Given the description of an element on the screen output the (x, y) to click on. 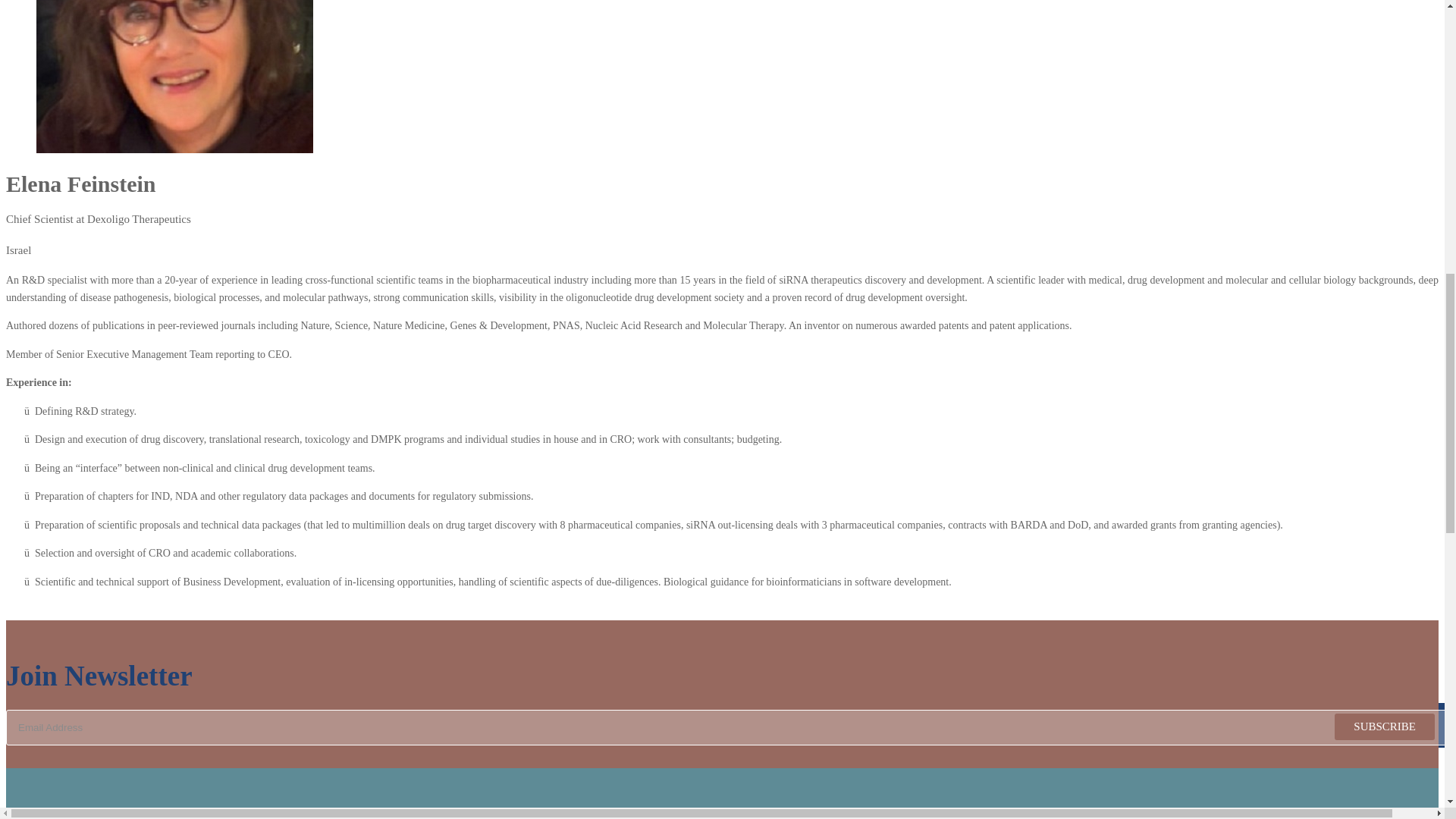
SUBSCRIBE (1384, 726)
